Given the description of an element on the screen output the (x, y) to click on. 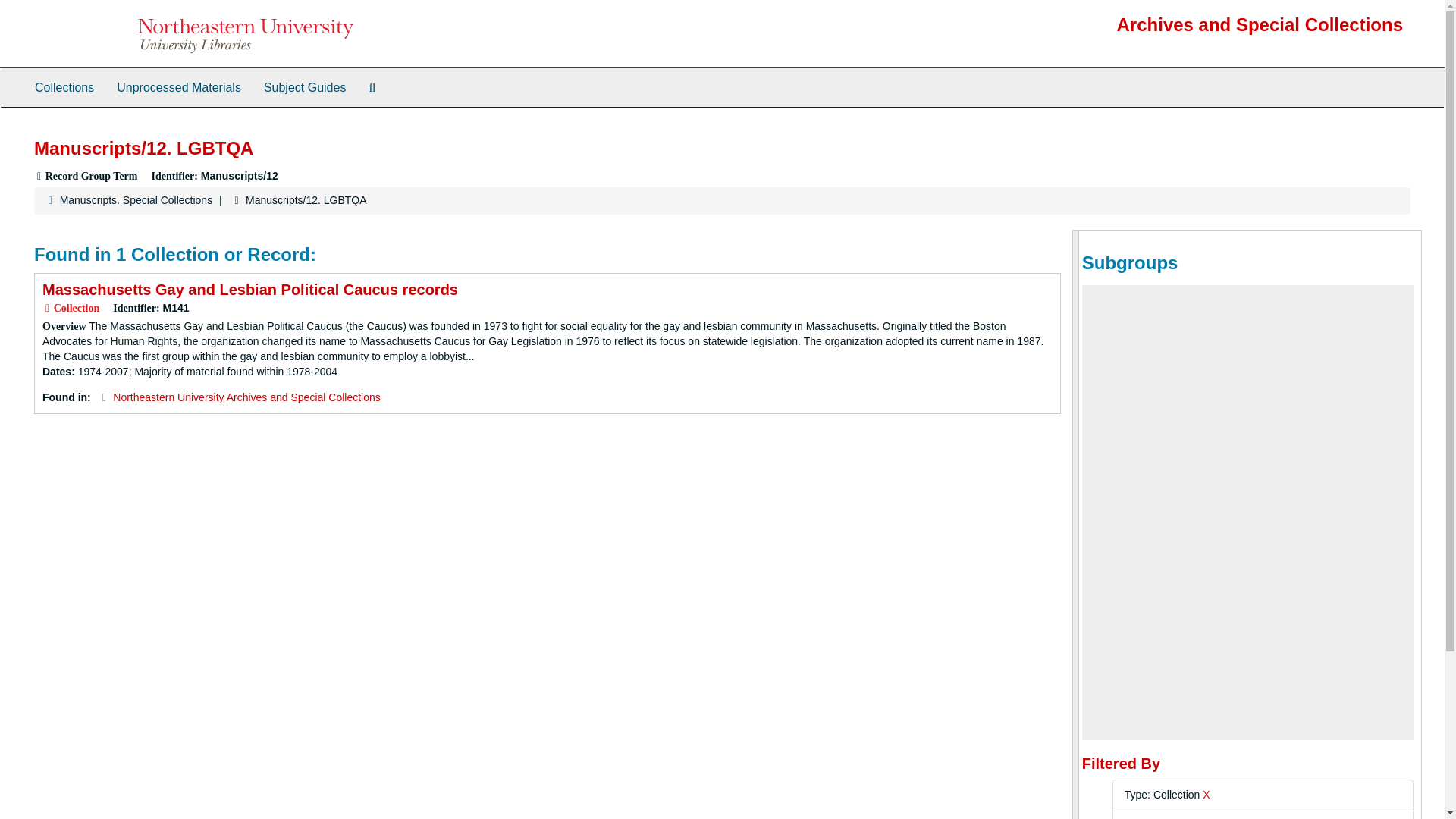
X (1205, 794)
Subject Guides (304, 87)
Manuscripts. Special Collections (135, 200)
Northeastern University Archives and Special Collections (246, 397)
Collections (63, 87)
Unprocessed Materials (177, 87)
Remove this filter  (1205, 794)
Search The Archives (371, 87)
Massachusetts Gay and Lesbian Political Caucus records (250, 289)
Archives and Special Collections (1259, 24)
Return to the Archives homepage (1259, 24)
Search The Archives (371, 87)
